Given the description of an element on the screen output the (x, y) to click on. 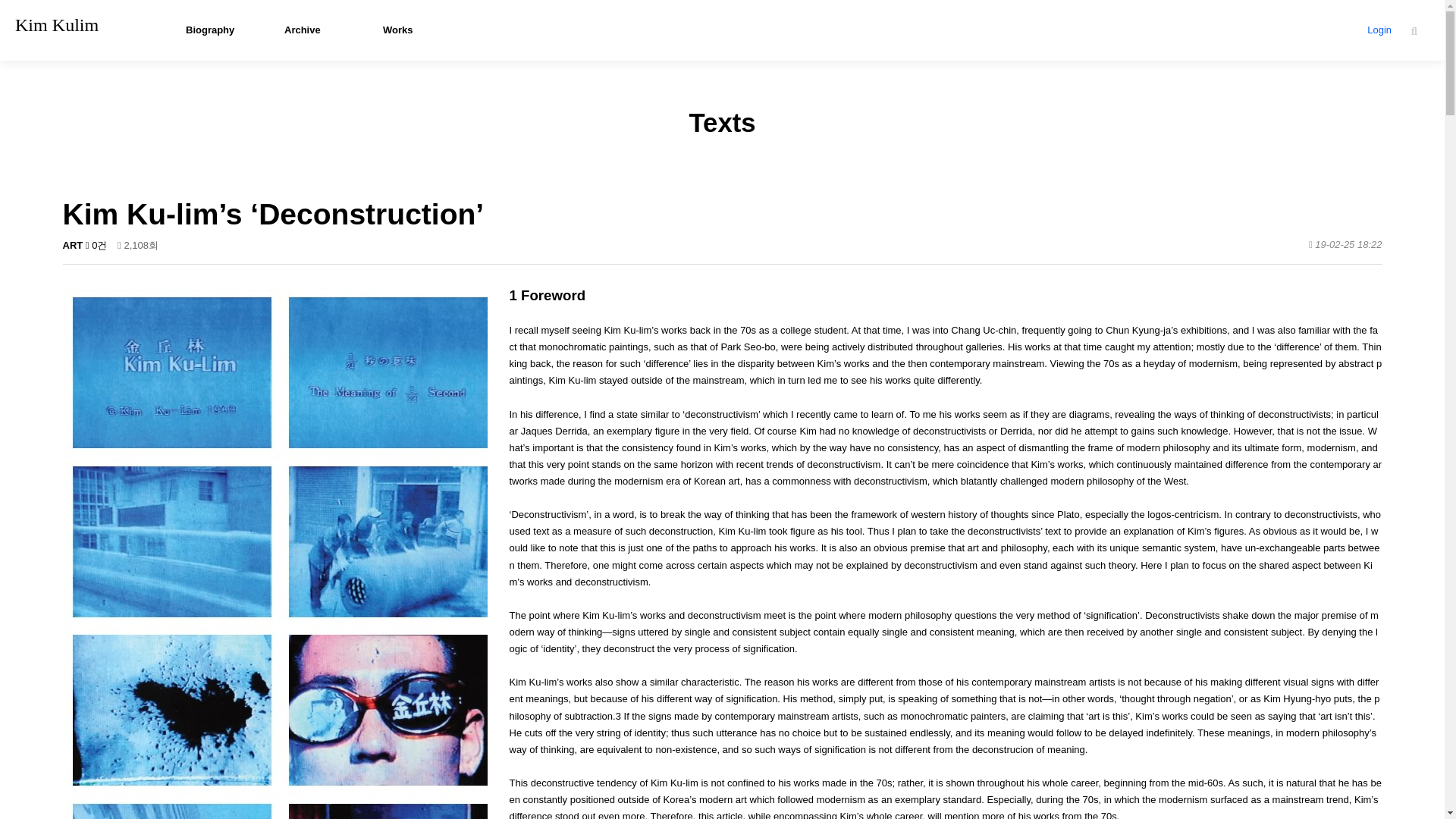
Kim Kulim (56, 25)
Biography (224, 30)
Login (1379, 29)
Archive (321, 30)
Works (420, 30)
